Given the description of an element on the screen output the (x, y) to click on. 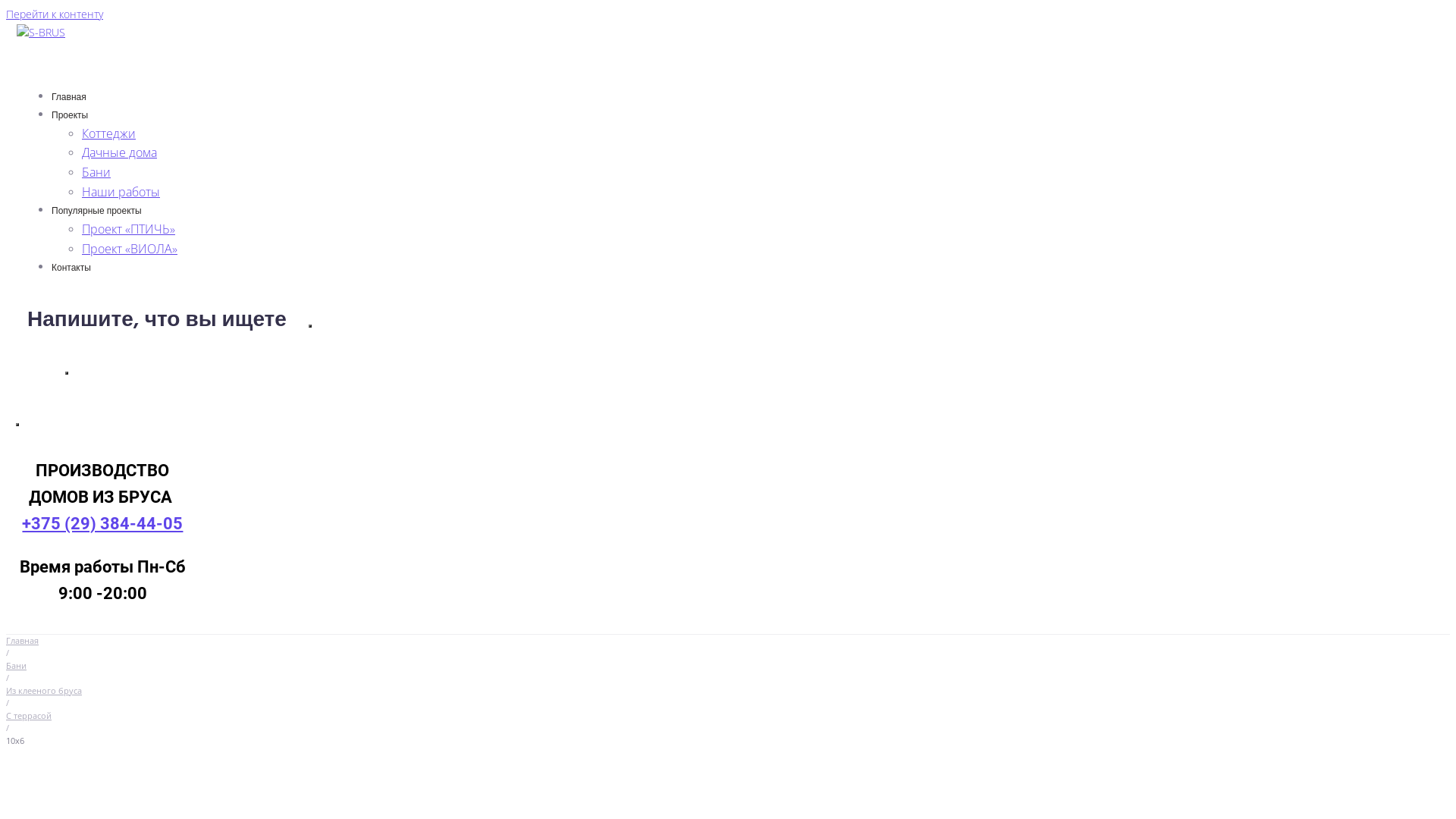
+375 (29) 384-44-05 Element type: text (101, 523)
